Given the description of an element on the screen output the (x, y) to click on. 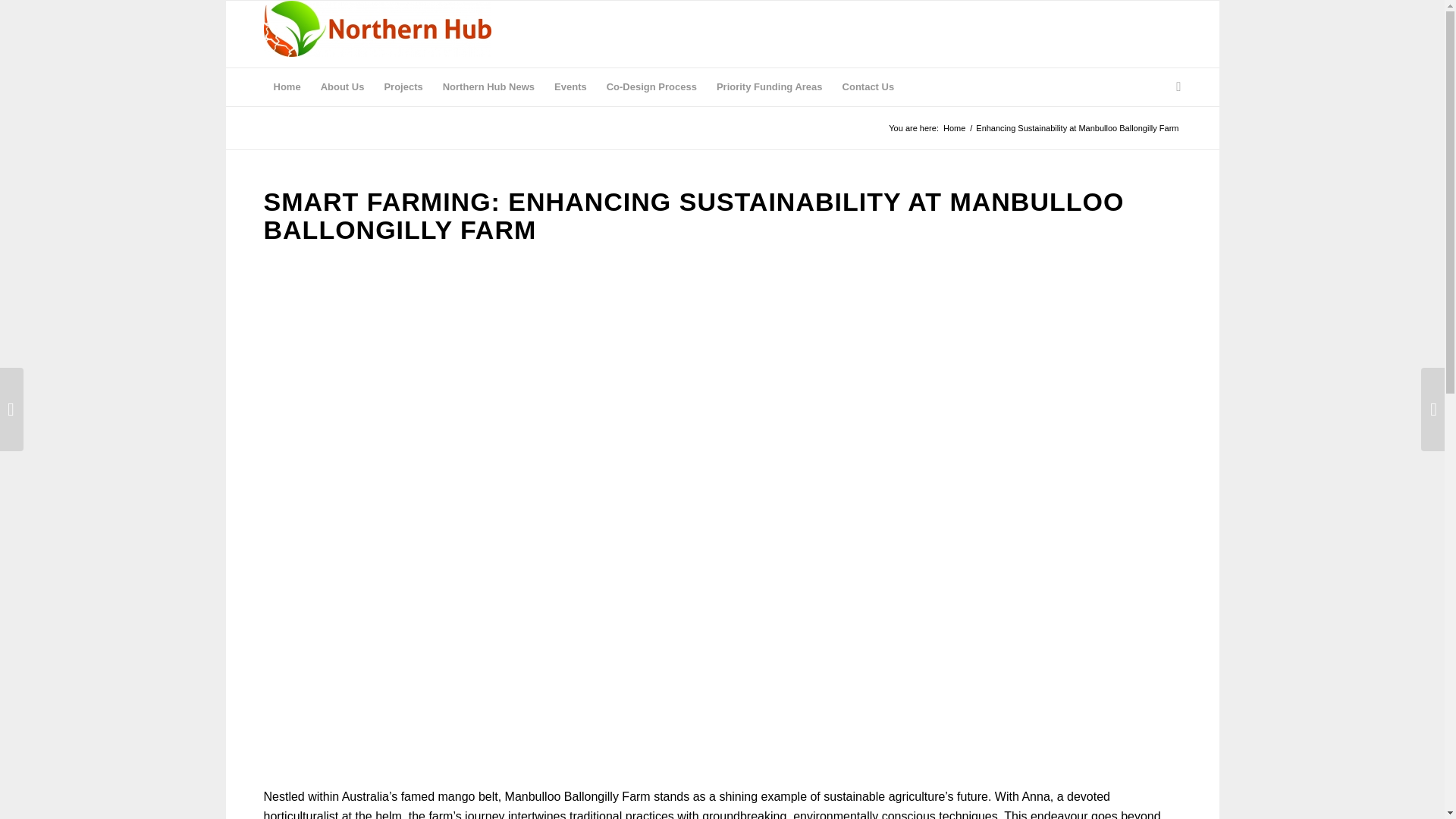
Projects (403, 86)
News (488, 86)
Northern Hub News (488, 86)
About Us (342, 86)
Events (570, 86)
Co-Design Process (651, 86)
Home (954, 128)
Priority Funding Areas (769, 86)
Contact Us (868, 86)
Home (287, 86)
